Given the description of an element on the screen output the (x, y) to click on. 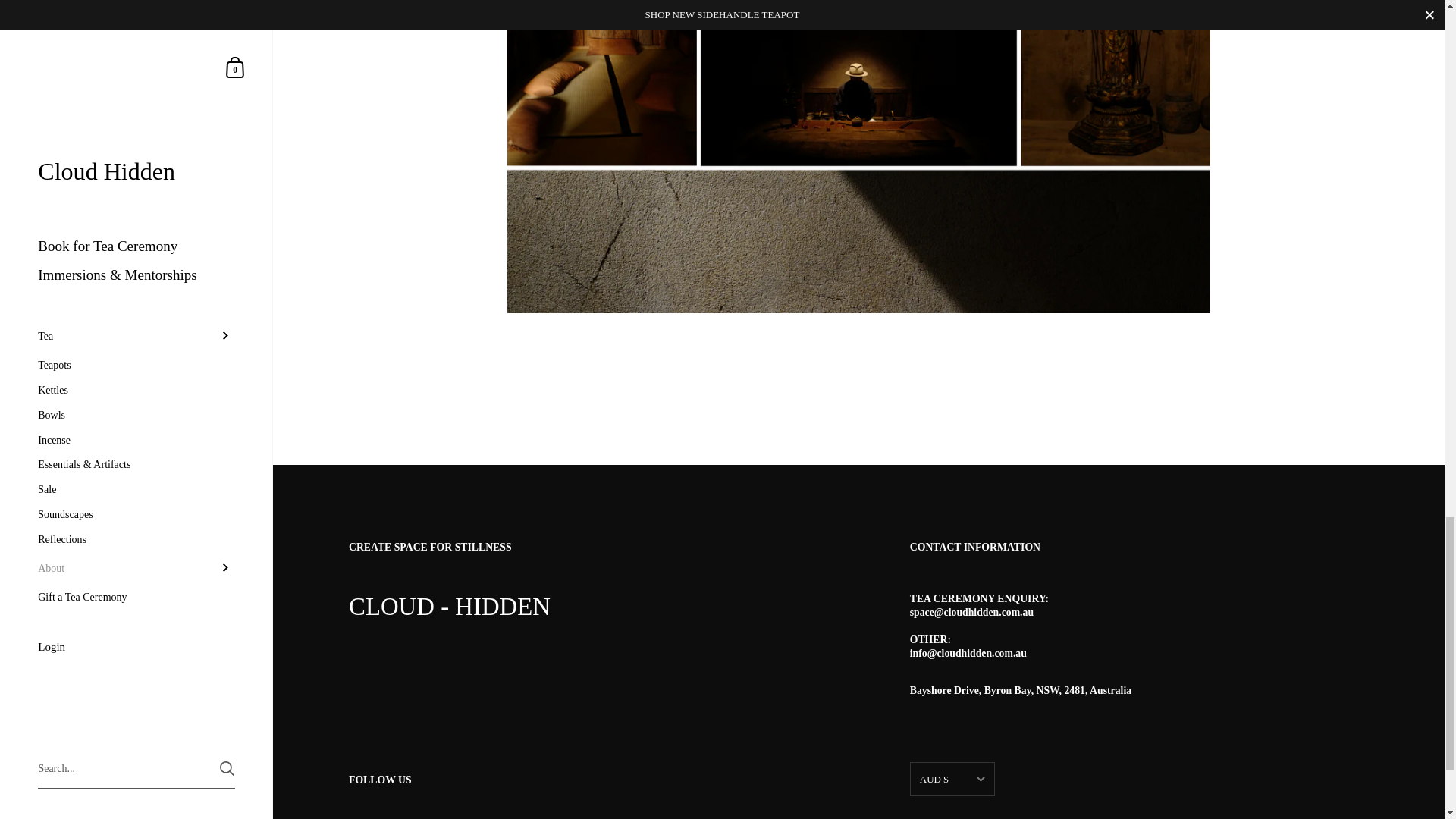
Instagram (387, 818)
Email (417, 818)
Facebook (357, 818)
